Given the description of an element on the screen output the (x, y) to click on. 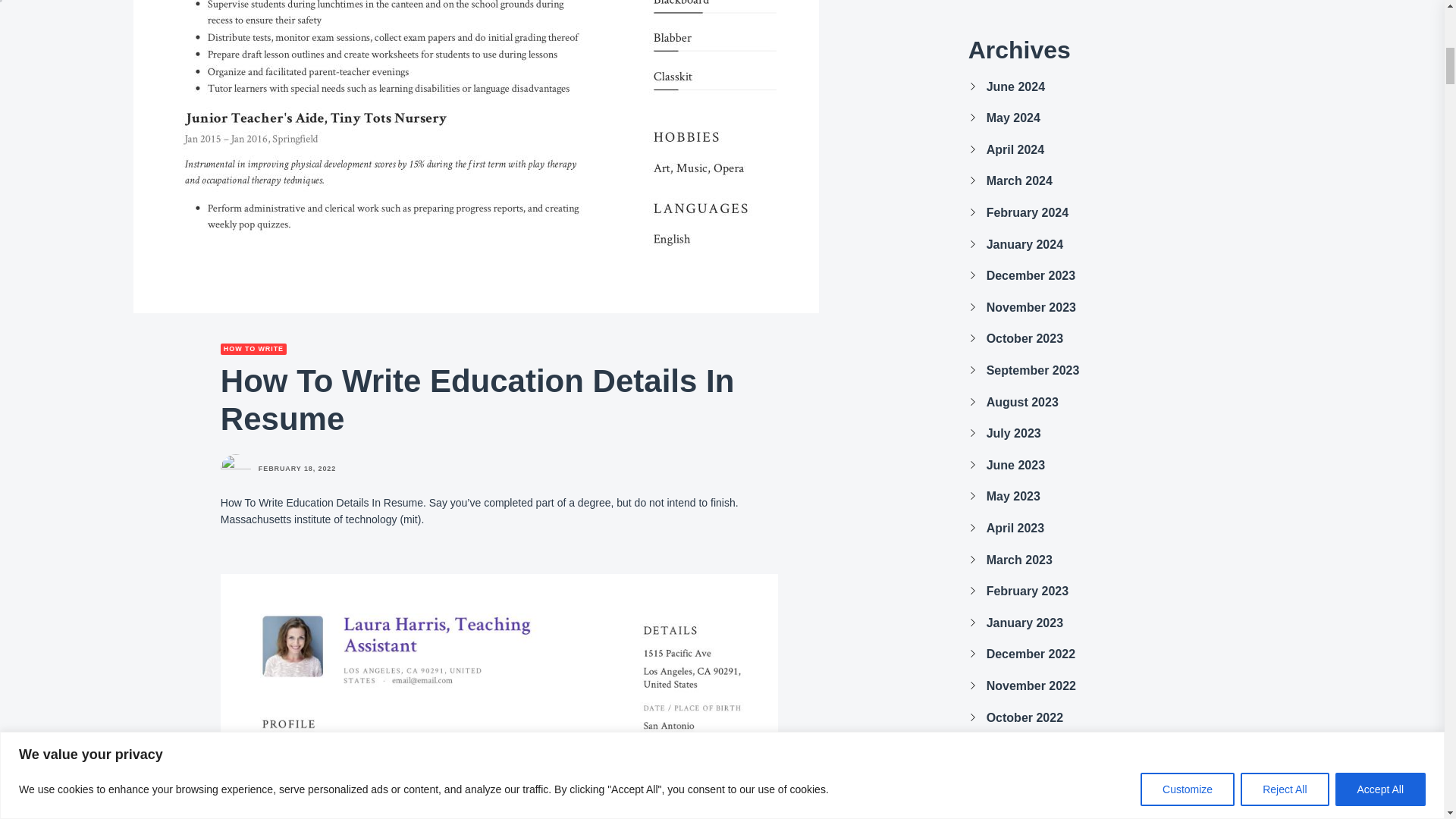
HOW TO WRITE (253, 348)
FEBRUARY 18, 2022 (297, 468)
